Given the description of an element on the screen output the (x, y) to click on. 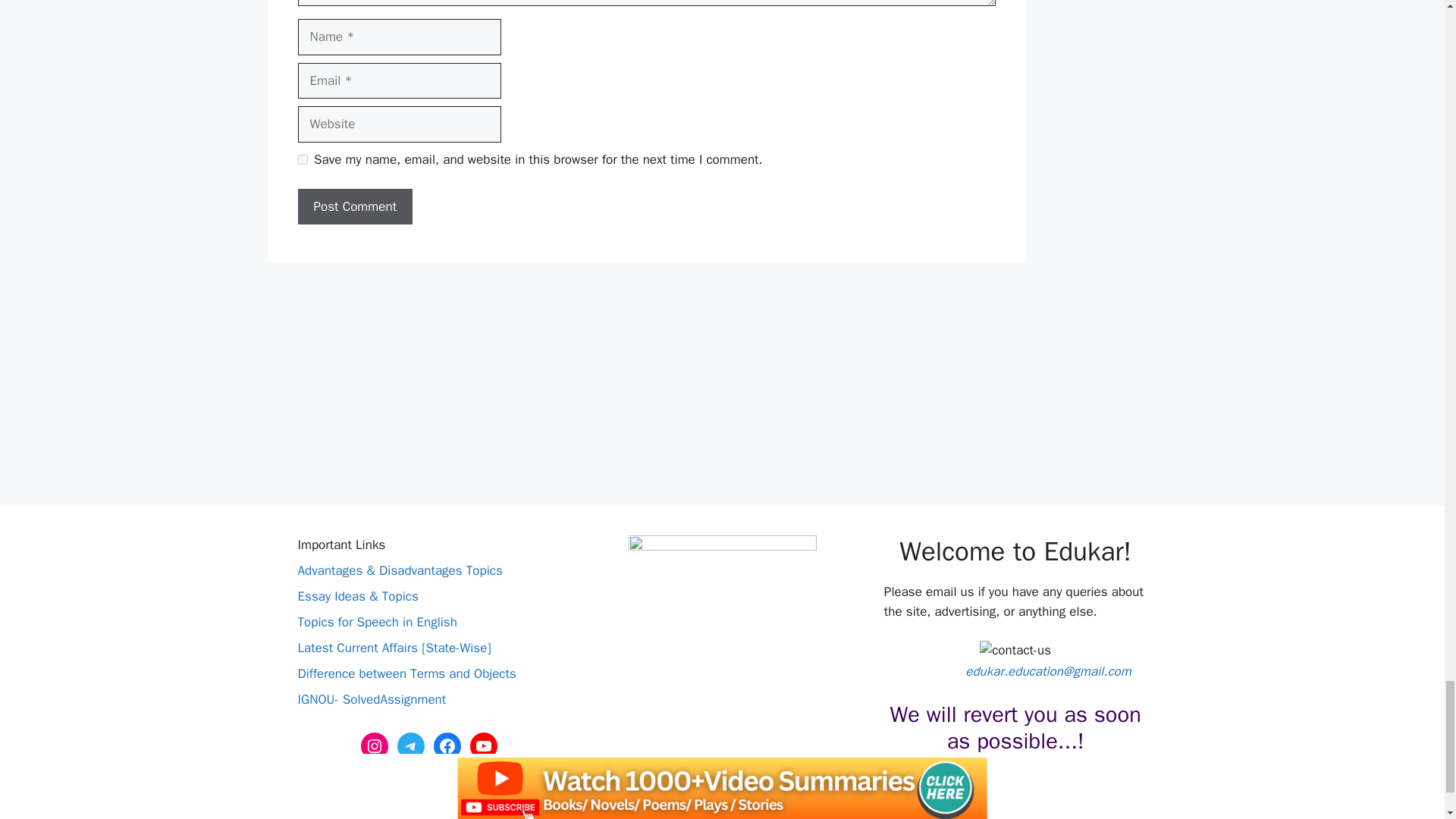
yes (302, 159)
Post Comment (354, 207)
